Given the description of an element on the screen output the (x, y) to click on. 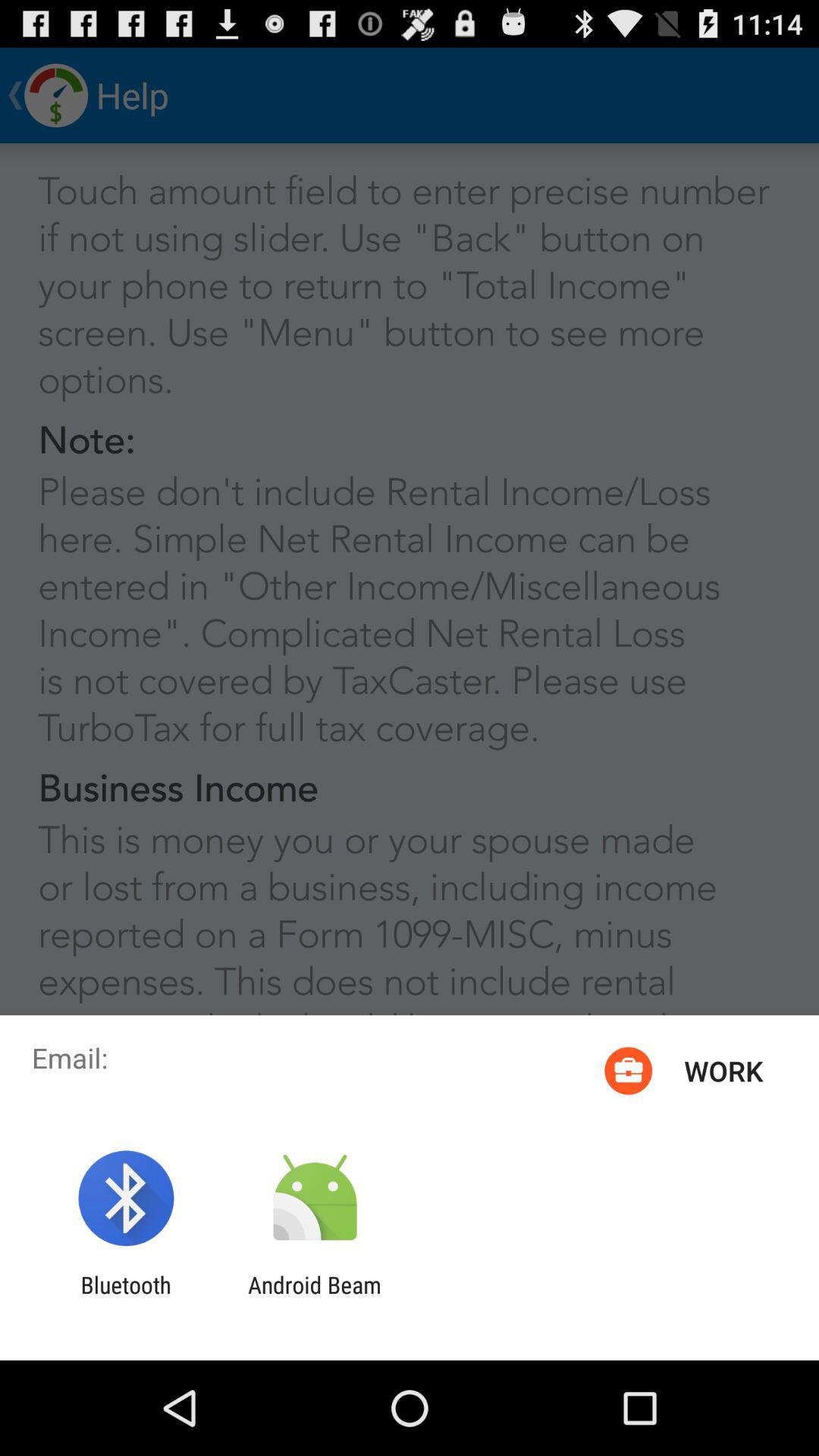
launch app next to the bluetooth (314, 1298)
